Given the description of an element on the screen output the (x, y) to click on. 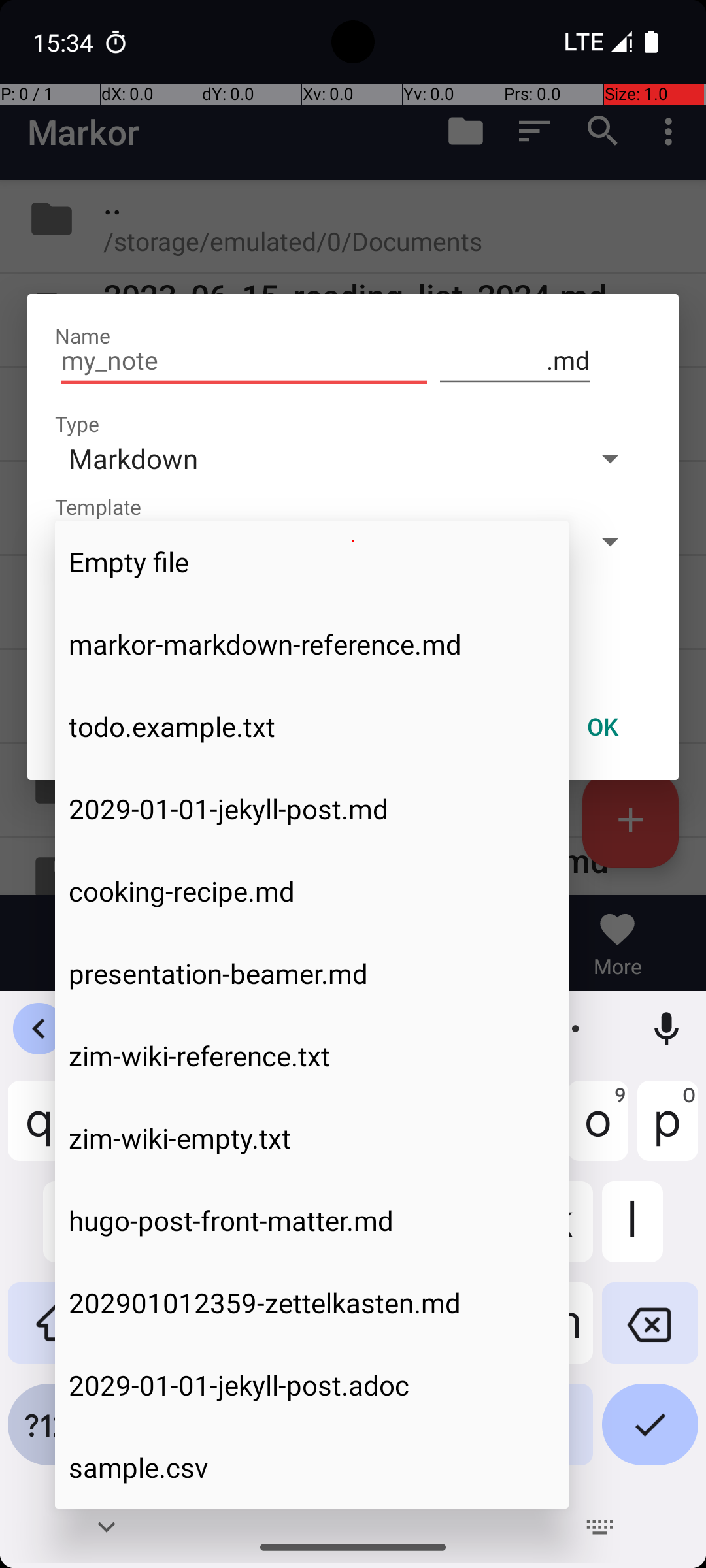
markor-markdown-reference.md Element type: android.widget.CheckedTextView (311, 644)
todo.example.txt Element type: android.widget.CheckedTextView (311, 726)
2029-01-01-jekyll-post.md Element type: android.widget.CheckedTextView (311, 808)
cooking-recipe.md Element type: android.widget.CheckedTextView (311, 890)
presentation-beamer.md Element type: android.widget.CheckedTextView (311, 973)
zim-wiki-reference.txt Element type: android.widget.CheckedTextView (311, 1055)
zim-wiki-empty.txt Element type: android.widget.CheckedTextView (311, 1137)
hugo-post-front-matter.md Element type: android.widget.CheckedTextView (311, 1220)
202901012359-zettelkasten.md Element type: android.widget.CheckedTextView (311, 1302)
2029-01-01-jekyll-post.adoc Element type: android.widget.CheckedTextView (311, 1384)
sample.csv Element type: android.widget.CheckedTextView (311, 1467)
